Given the description of an element on the screen output the (x, y) to click on. 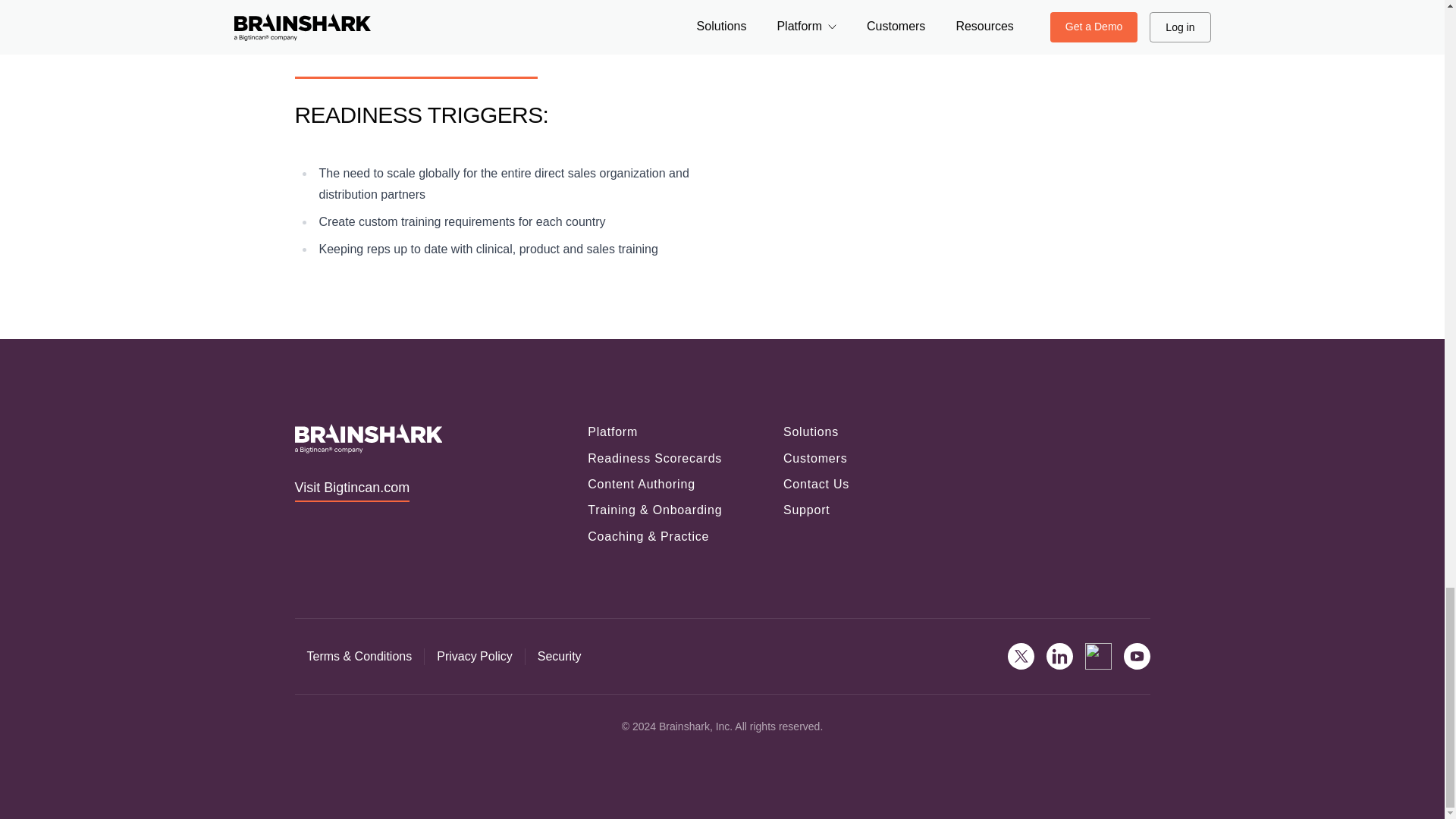
Readiness Scorecards (655, 458)
Customers (815, 458)
Visit Bigtincan.com (351, 490)
Content Authoring (641, 483)
Platform (612, 431)
Solutions (810, 431)
